Given the description of an element on the screen output the (x, y) to click on. 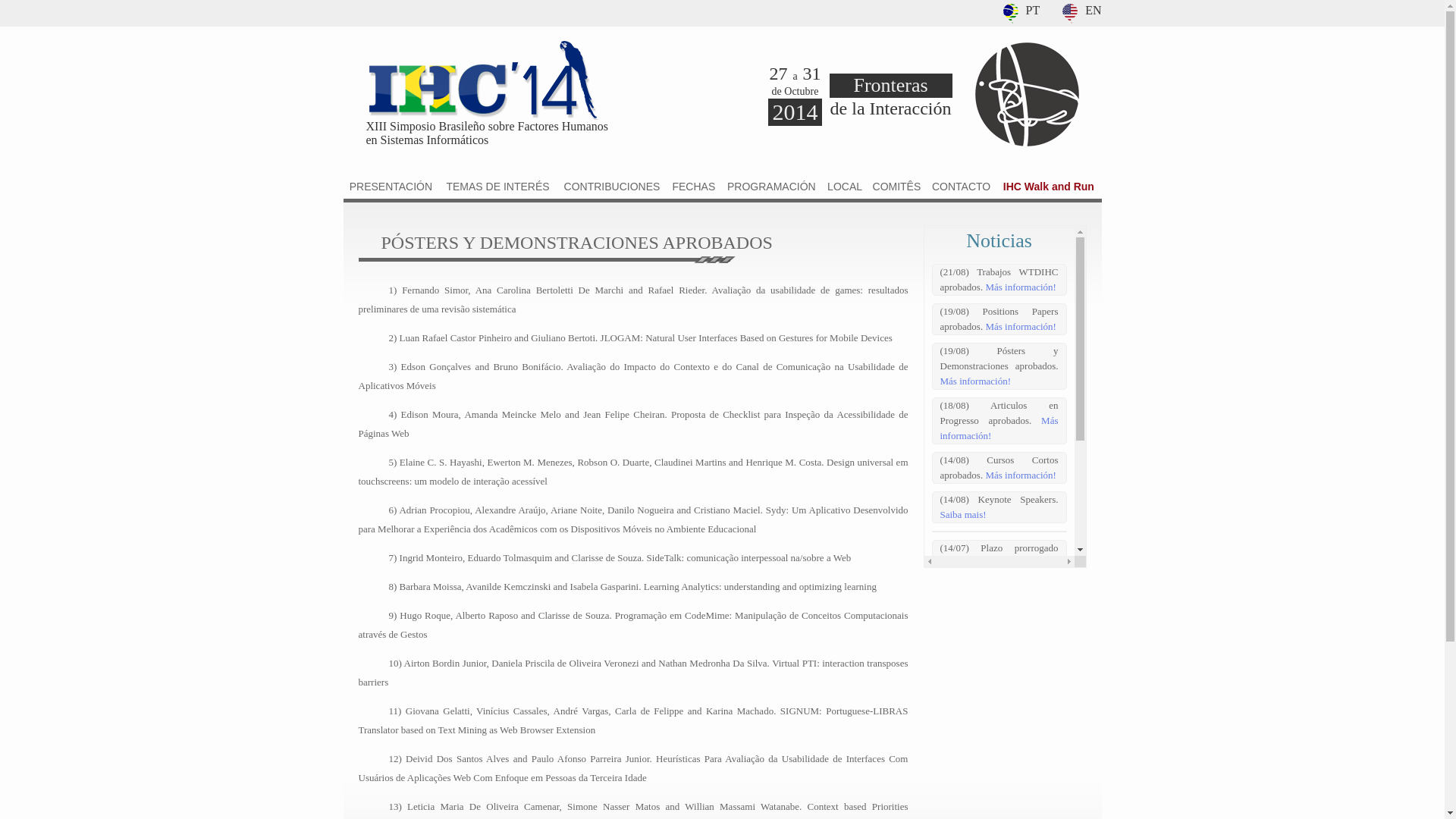
Saiba mais! Element type: text (963, 514)
LOCAL Element type: text (844, 186)
CONTACTO Element type: text (961, 186)
FECHAS Element type: text (693, 186)
CONTRIBUCIONES Element type: text (612, 186)
IHC Walk and Run Element type: text (1048, 186)
